Given the description of an element on the screen output the (x, y) to click on. 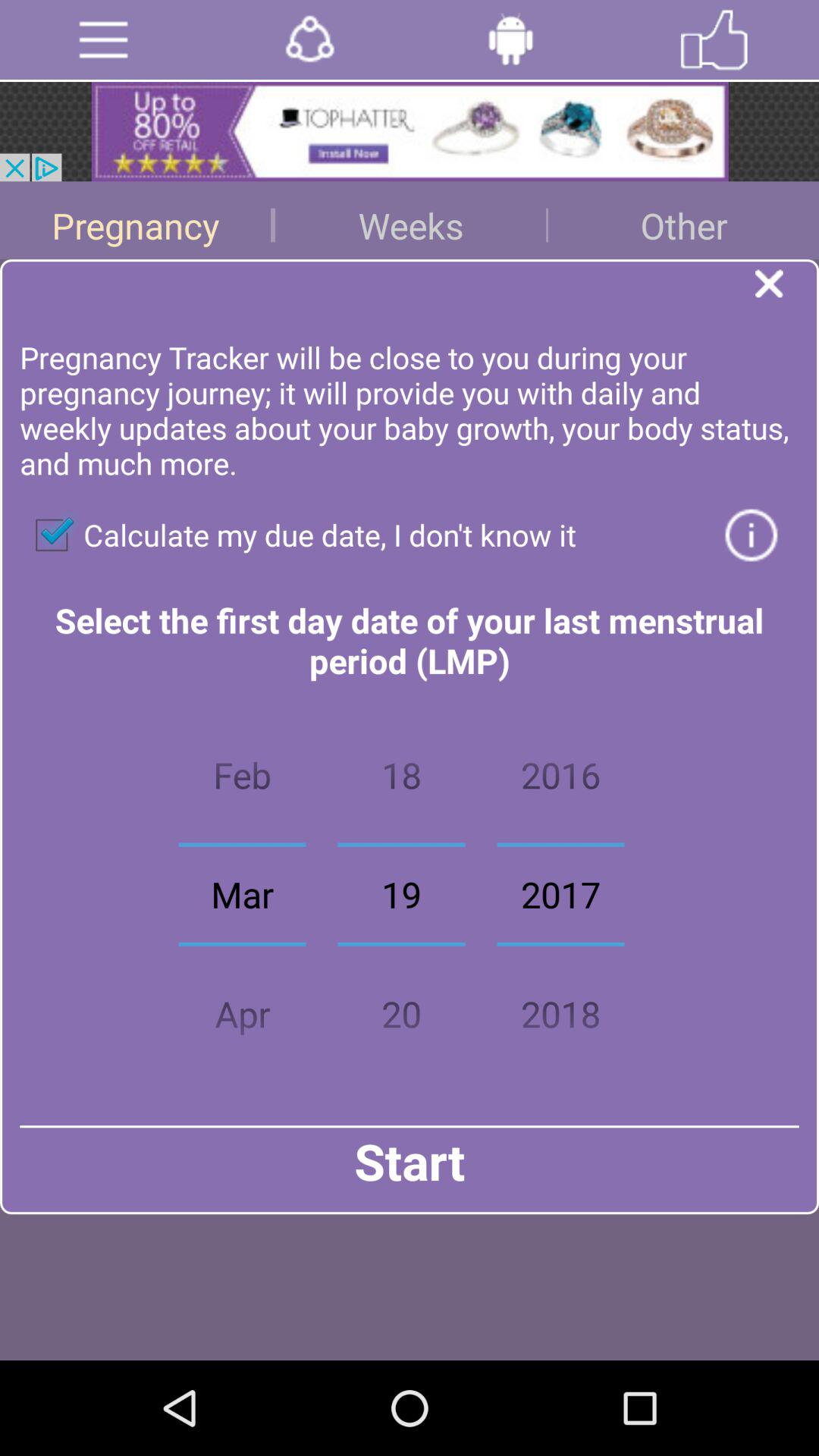
close dialogue box (787, 288)
